Given the description of an element on the screen output the (x, y) to click on. 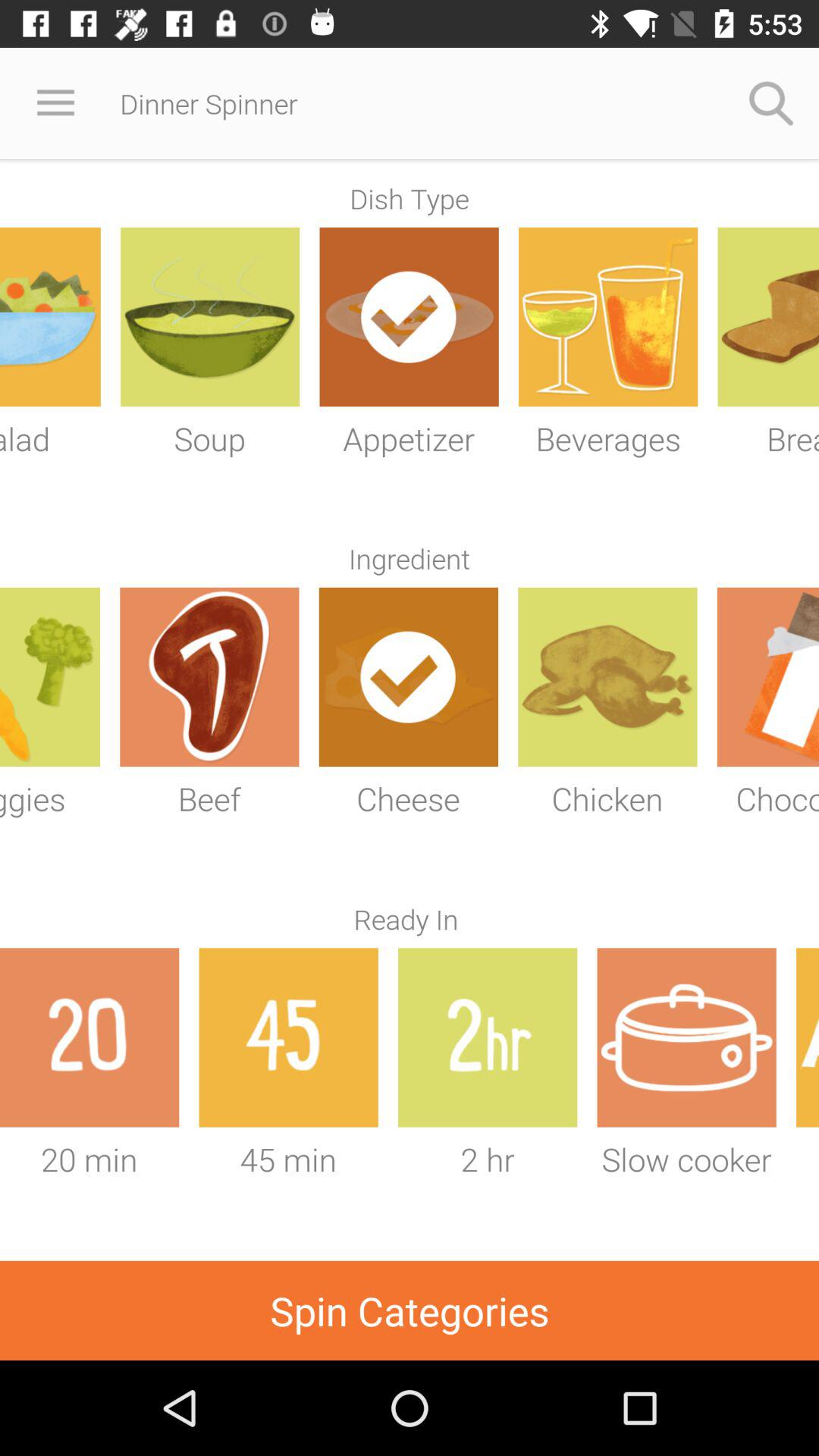
tap item to the right of the dinner spinner app (771, 103)
